Given the description of an element on the screen output the (x, y) to click on. 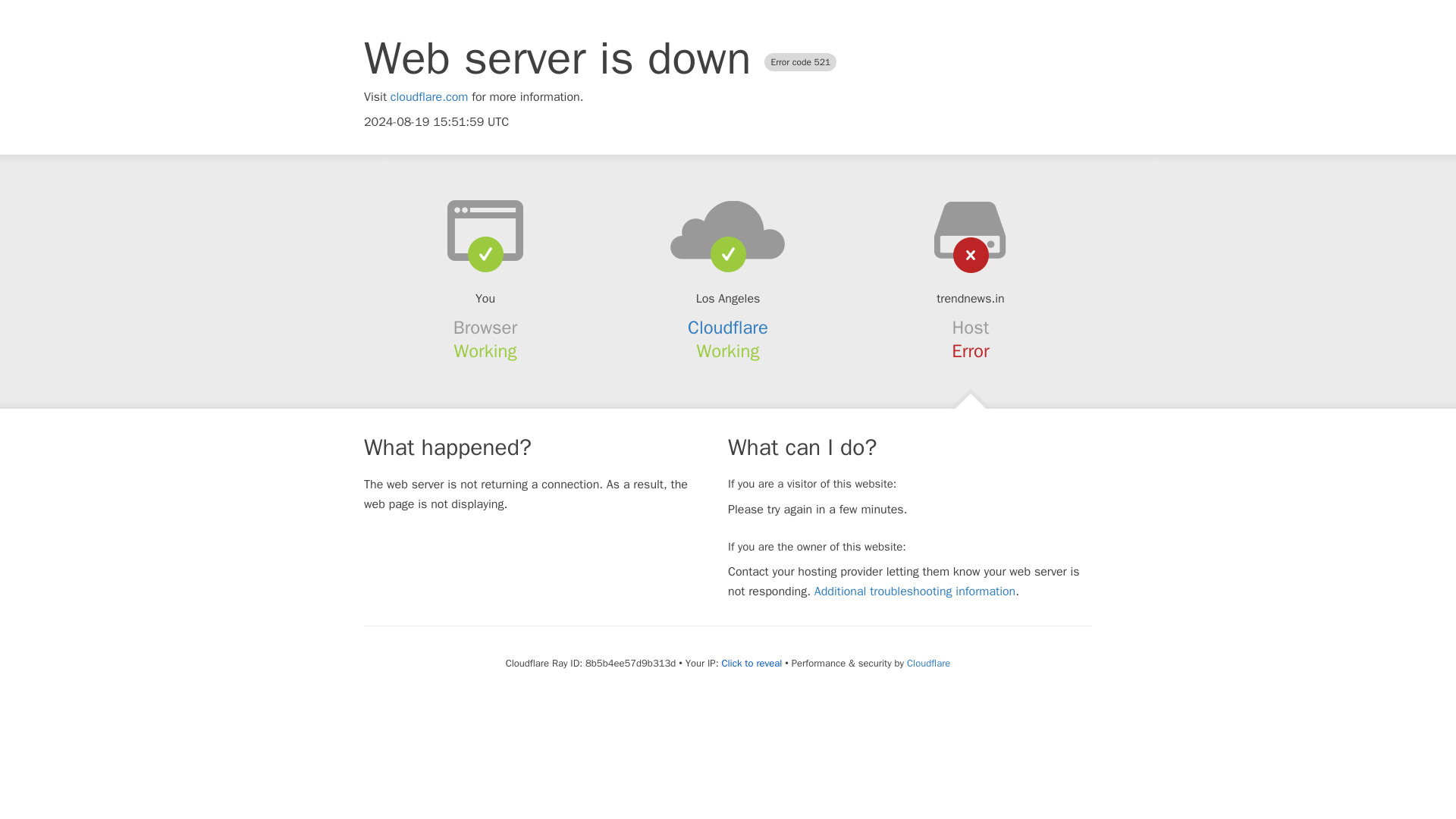
Cloudflare (727, 327)
Cloudflare (928, 662)
Additional troubleshooting information (913, 590)
Click to reveal (750, 663)
cloudflare.com (429, 96)
